Given the description of an element on the screen output the (x, y) to click on. 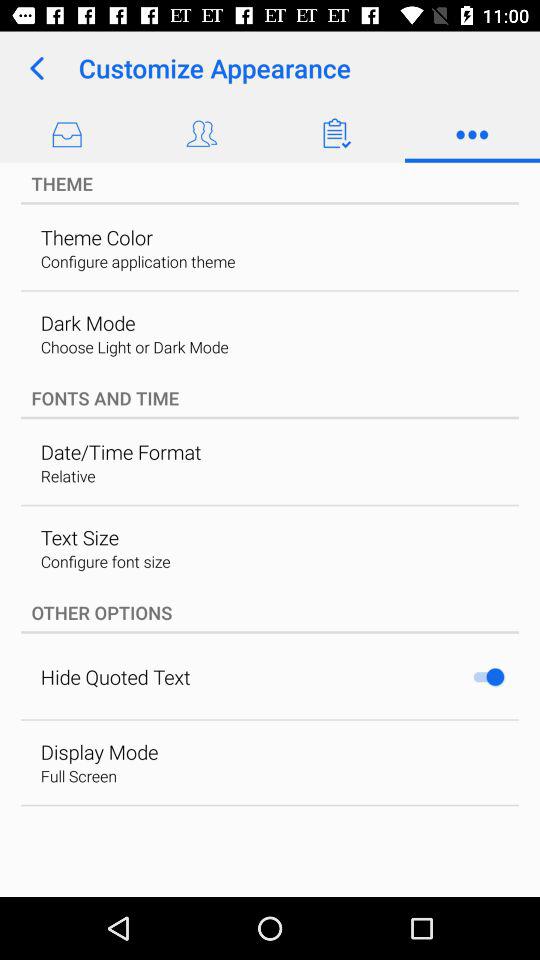
turn on icon below the other options app (488, 676)
